Given the description of an element on the screen output the (x, y) to click on. 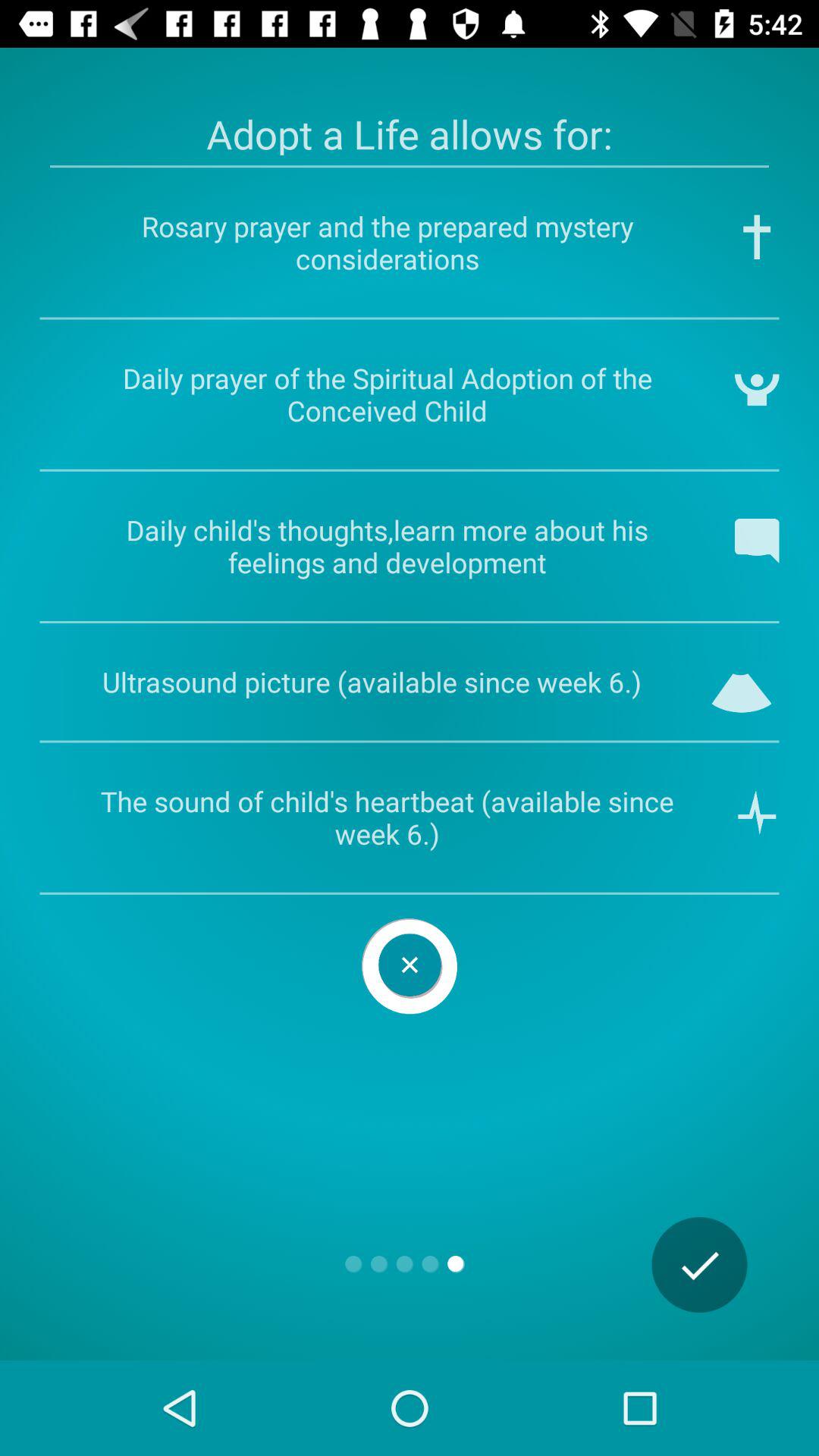
click the item at the bottom right corner (699, 1264)
